Given the description of an element on the screen output the (x, y) to click on. 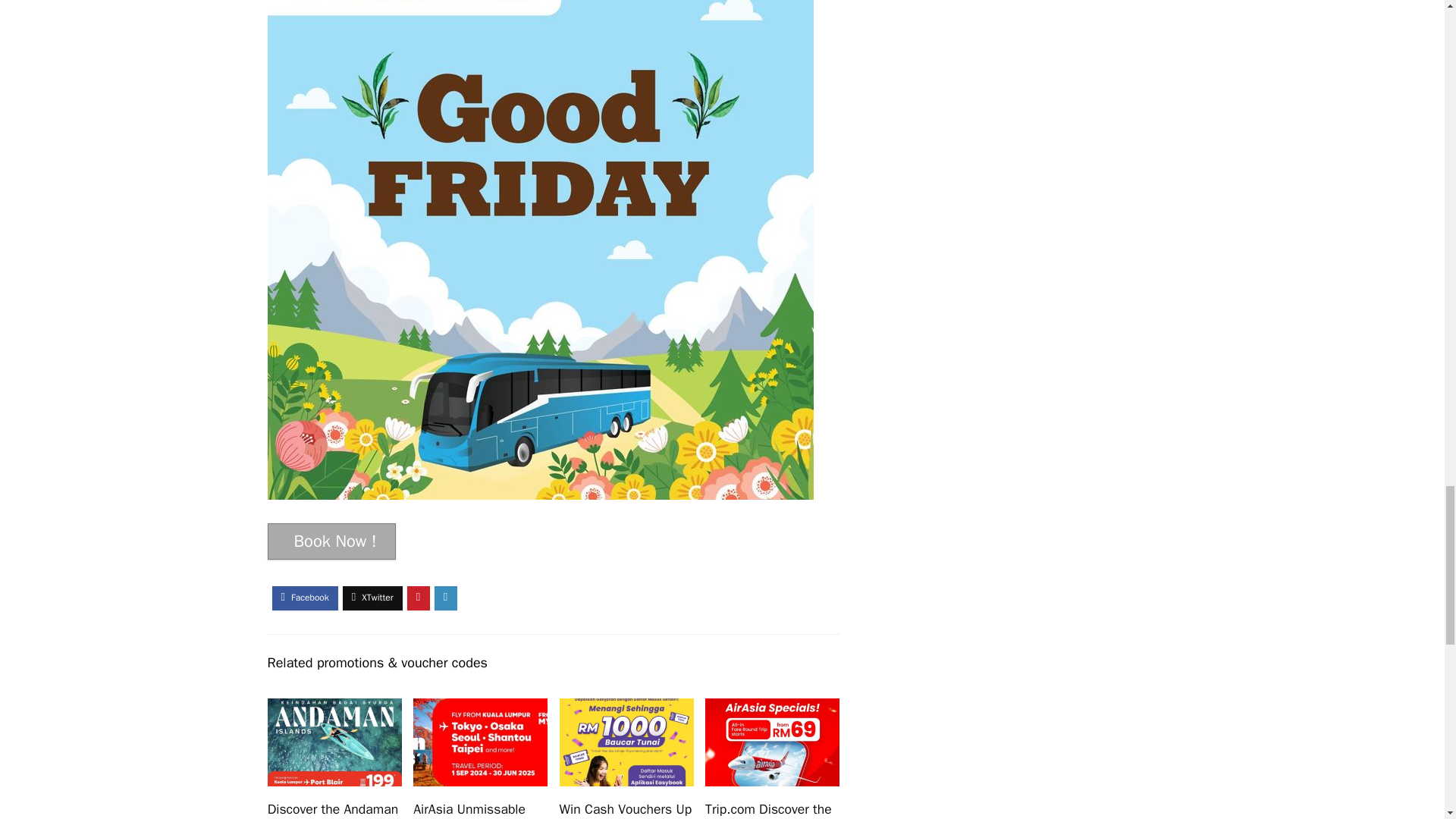
Book Now ! (330, 541)
